Given the description of an element on the screen output the (x, y) to click on. 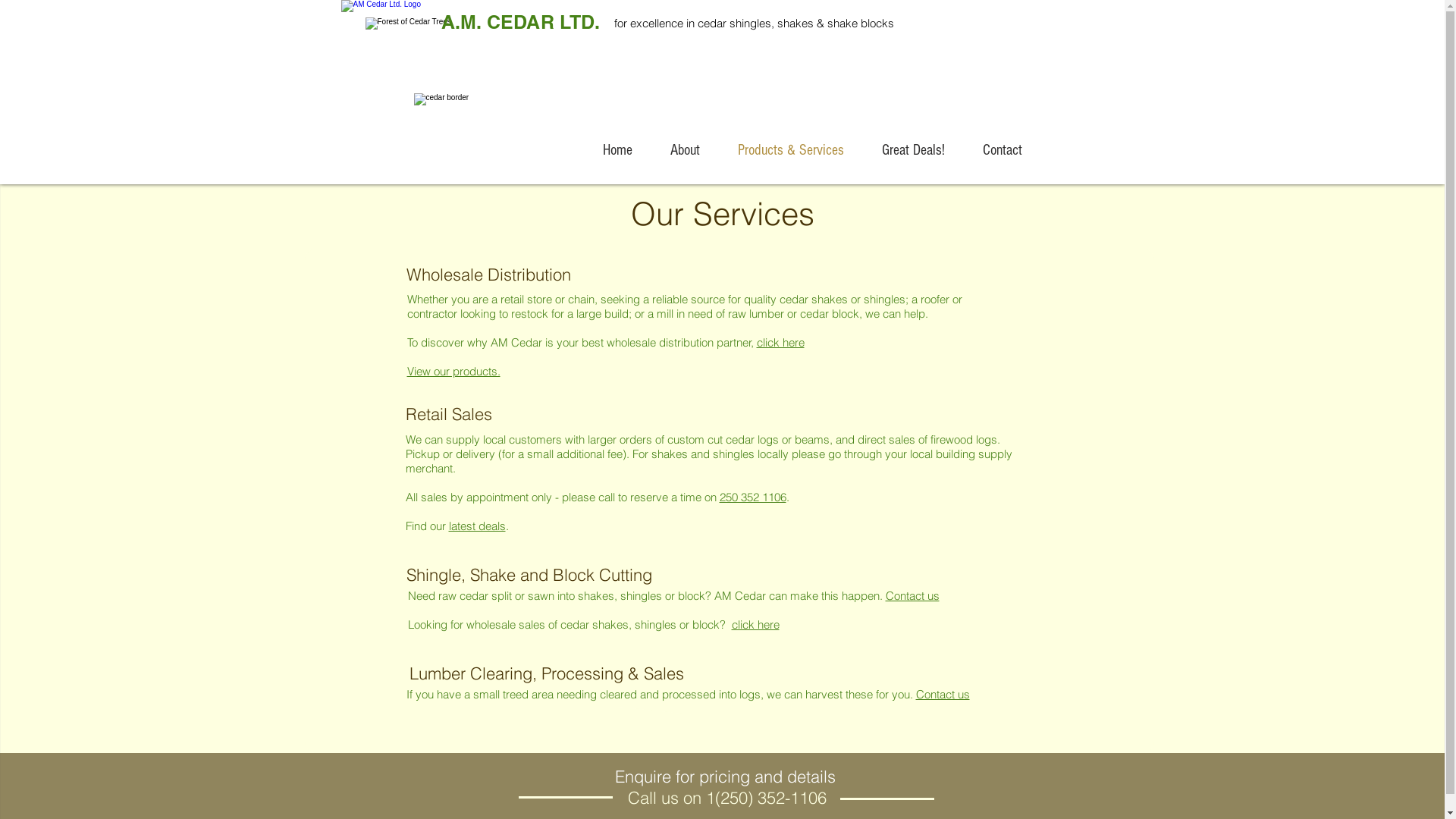
Products & Services Element type: text (790, 150)
Contact us Element type: text (942, 694)
Contact Element type: text (1001, 150)
Contact us Element type: text (912, 595)
A.M. CEDAR LTD. Element type: text (520, 21)
View our products. Element type: text (452, 371)
Home Element type: text (617, 150)
Great Deals! Element type: text (912, 150)
click for home page Element type: hover (391, 43)
latest deals Element type: text (476, 525)
About Element type: text (684, 150)
click here Element type: text (754, 624)
click here Element type: text (780, 342)
250 352 1106 Element type: text (751, 496)
